Given the description of an element on the screen output the (x, y) to click on. 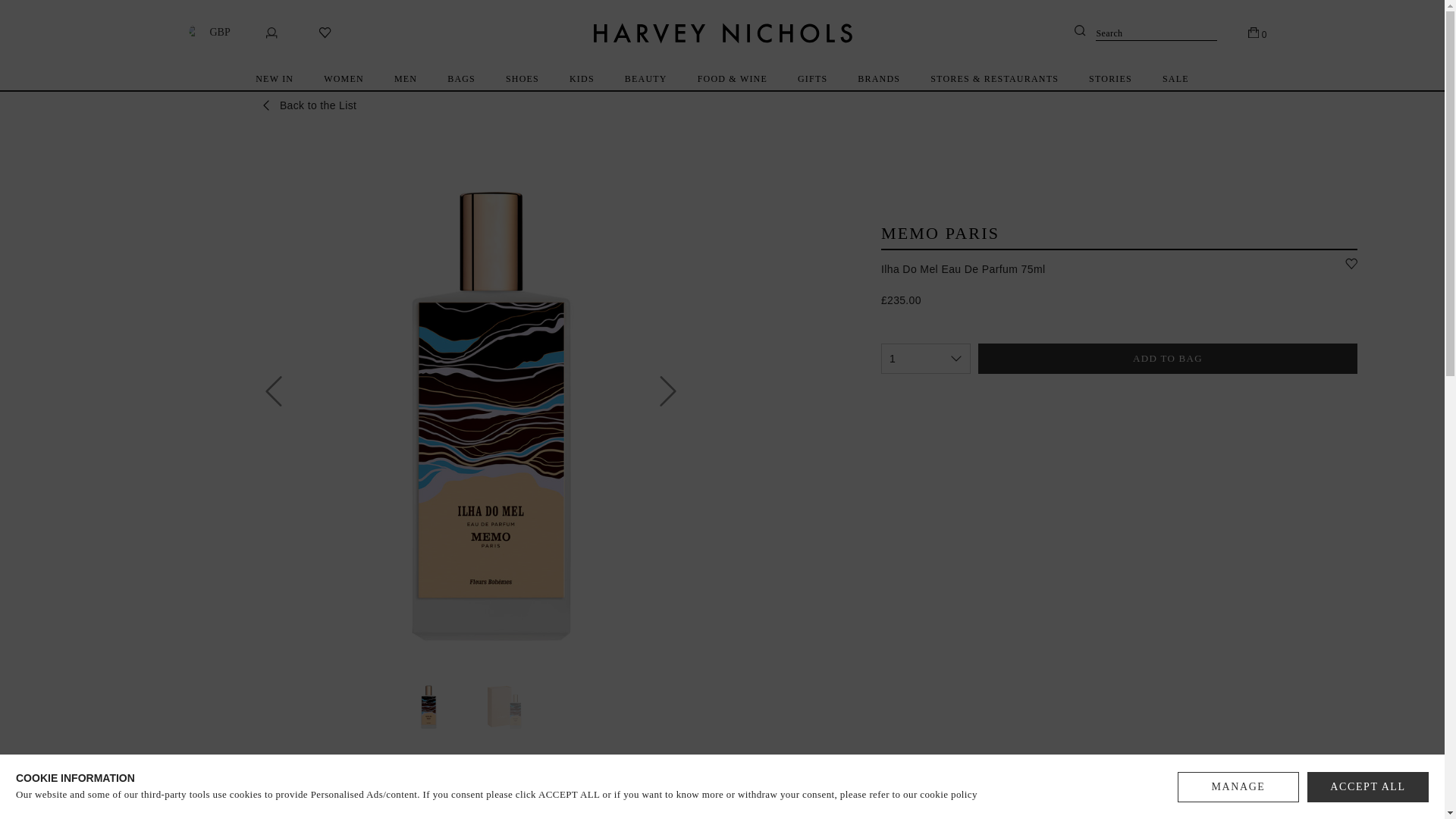
0 (1257, 32)
NEW IN (274, 78)
WOMEN (343, 78)
GBP (206, 32)
Search (1145, 32)
Add to Bag (1167, 358)
